Given the description of an element on the screen output the (x, y) to click on. 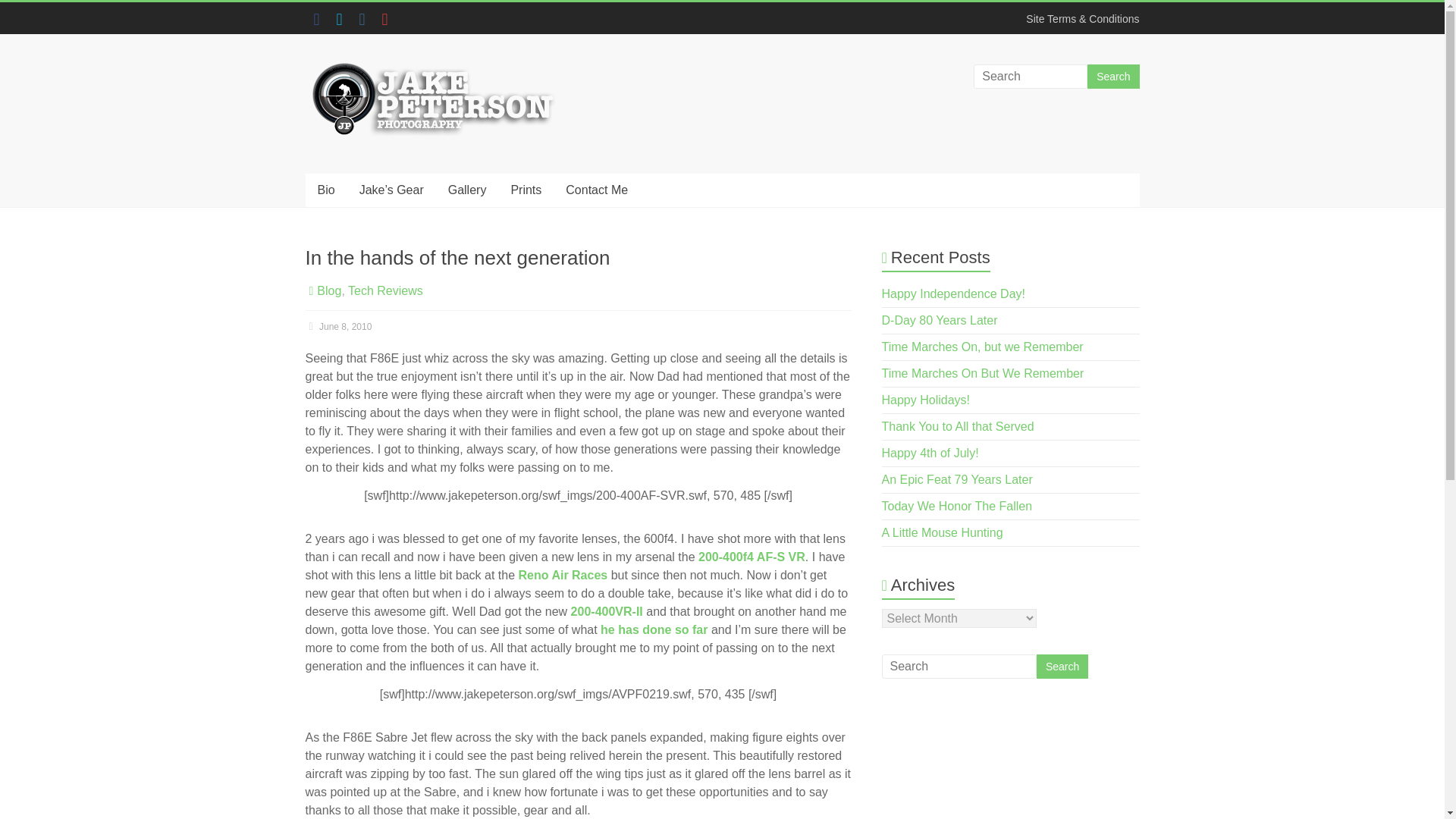
An Epic Feat 79 Years Later (957, 479)
Happy Independence Day! (953, 293)
he has done so far (653, 629)
Happy 4th of July! (930, 452)
Happy Holidays! (926, 399)
Time Marches On But We Remember (983, 373)
Search (1112, 76)
Gallery (467, 190)
200-400VR-II (606, 611)
200-400f4 AF-S VR (751, 556)
Bio (325, 190)
Contact Me (596, 190)
Search (1061, 666)
Time Marches On, but we Remember (982, 346)
Reno Air Races (563, 574)
